Given the description of an element on the screen output the (x, y) to click on. 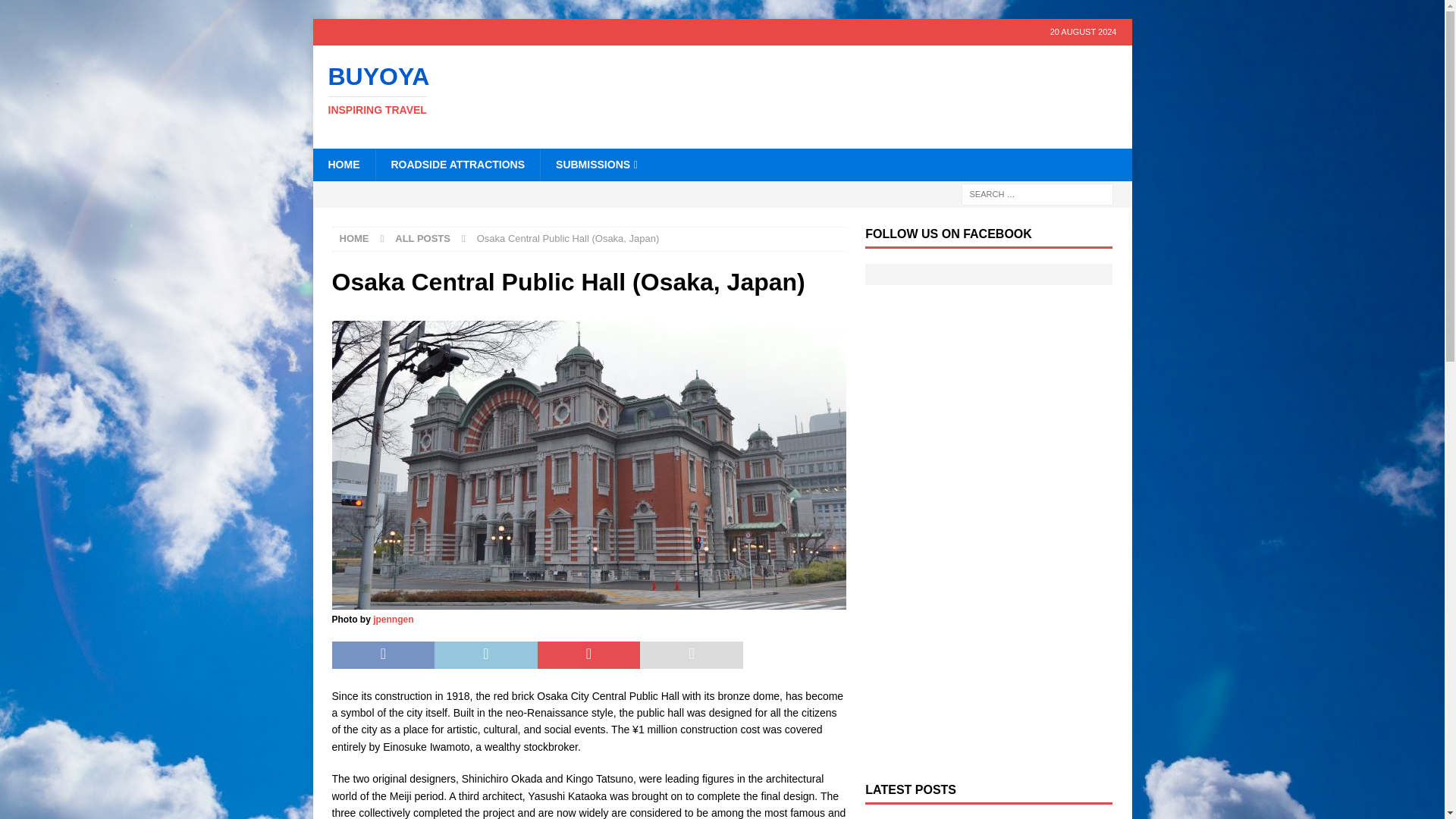
HOME (354, 238)
jpenngen (392, 619)
HOME (343, 164)
Buyoya (441, 90)
ROADSIDE ATTRACTIONS (457, 164)
Advertisement (868, 94)
Search (56, 11)
SUBMISSIONS (441, 90)
